Given the description of an element on the screen output the (x, y) to click on. 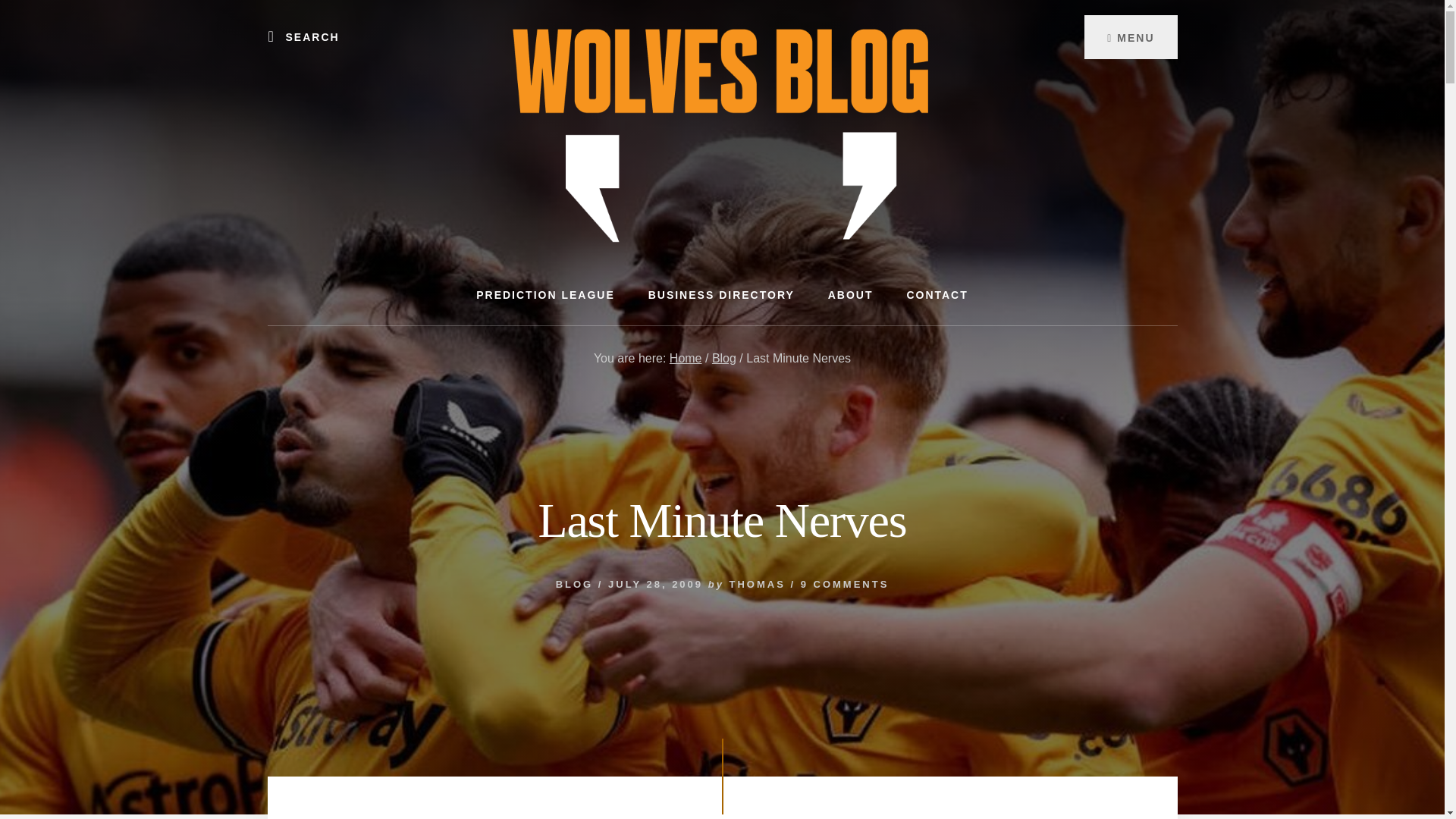
BUSINESS DIRECTORY (721, 295)
MENU (1130, 36)
Blog (723, 358)
BLOG (575, 583)
CONTACT (936, 295)
9 COMMENTS (844, 583)
THOMAS (757, 583)
